Given the description of an element on the screen output the (x, y) to click on. 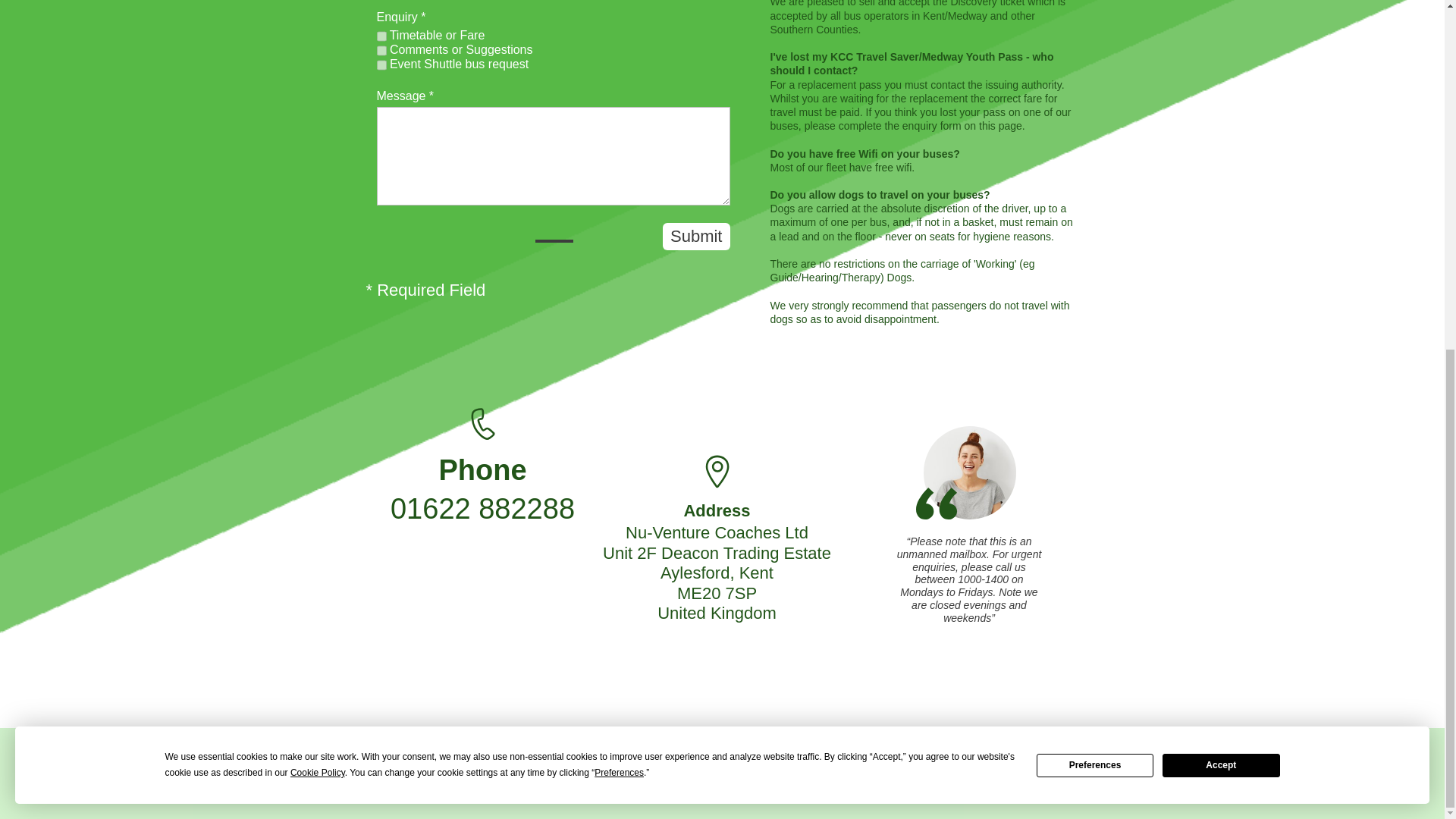
Preferences (1094, 159)
01622 882288 (482, 508)
Submit (695, 236)
Submit (695, 236)
Accept (1220, 159)
